Given the description of an element on the screen output the (x, y) to click on. 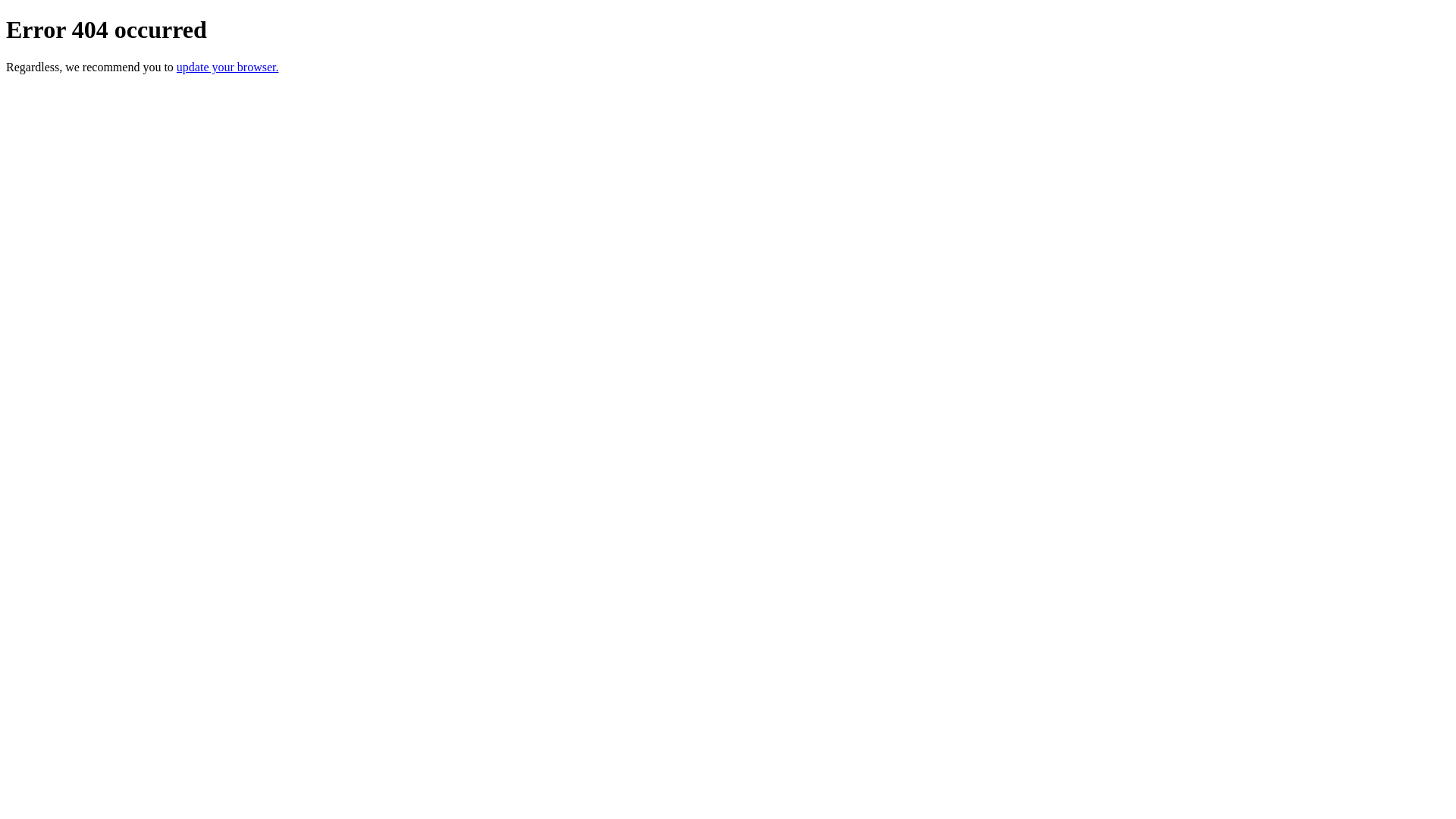
update your browser. Element type: text (227, 66)
